Given the description of an element on the screen output the (x, y) to click on. 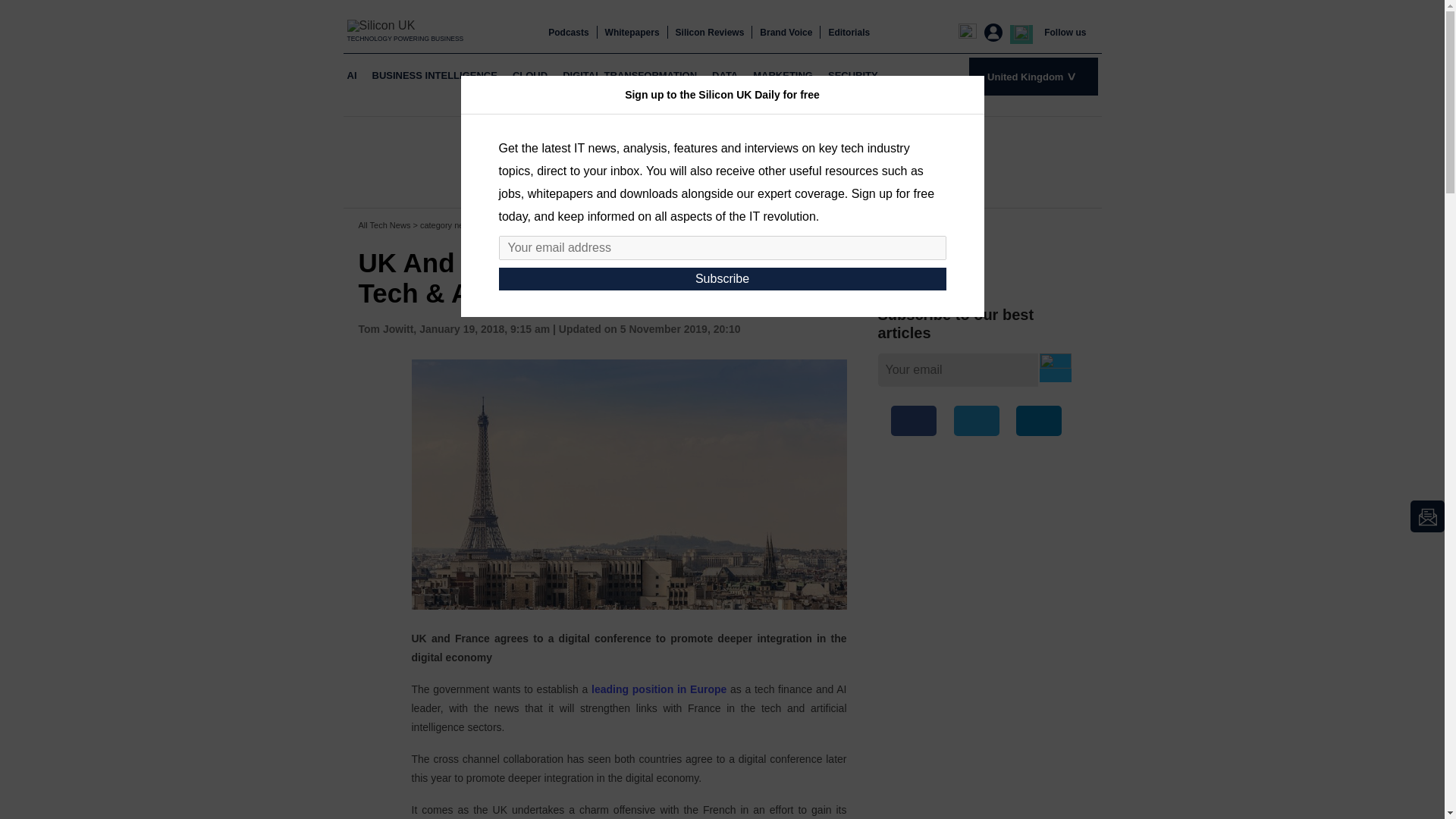
Podcasts (568, 32)
United Kingdom (1033, 76)
SECURITY (853, 76)
Brand Voice (786, 32)
DIGITAL TRANSFORMATION (629, 76)
DATA (724, 76)
CLOUD (529, 76)
Whitepapers (632, 32)
MARKETING (782, 76)
Silicon UK (405, 24)
BUSINESS INTELLIGENCE (434, 76)
Editorials (848, 32)
Follow us (1064, 32)
Silicon Reviews (709, 32)
